Given the description of an element on the screen output the (x, y) to click on. 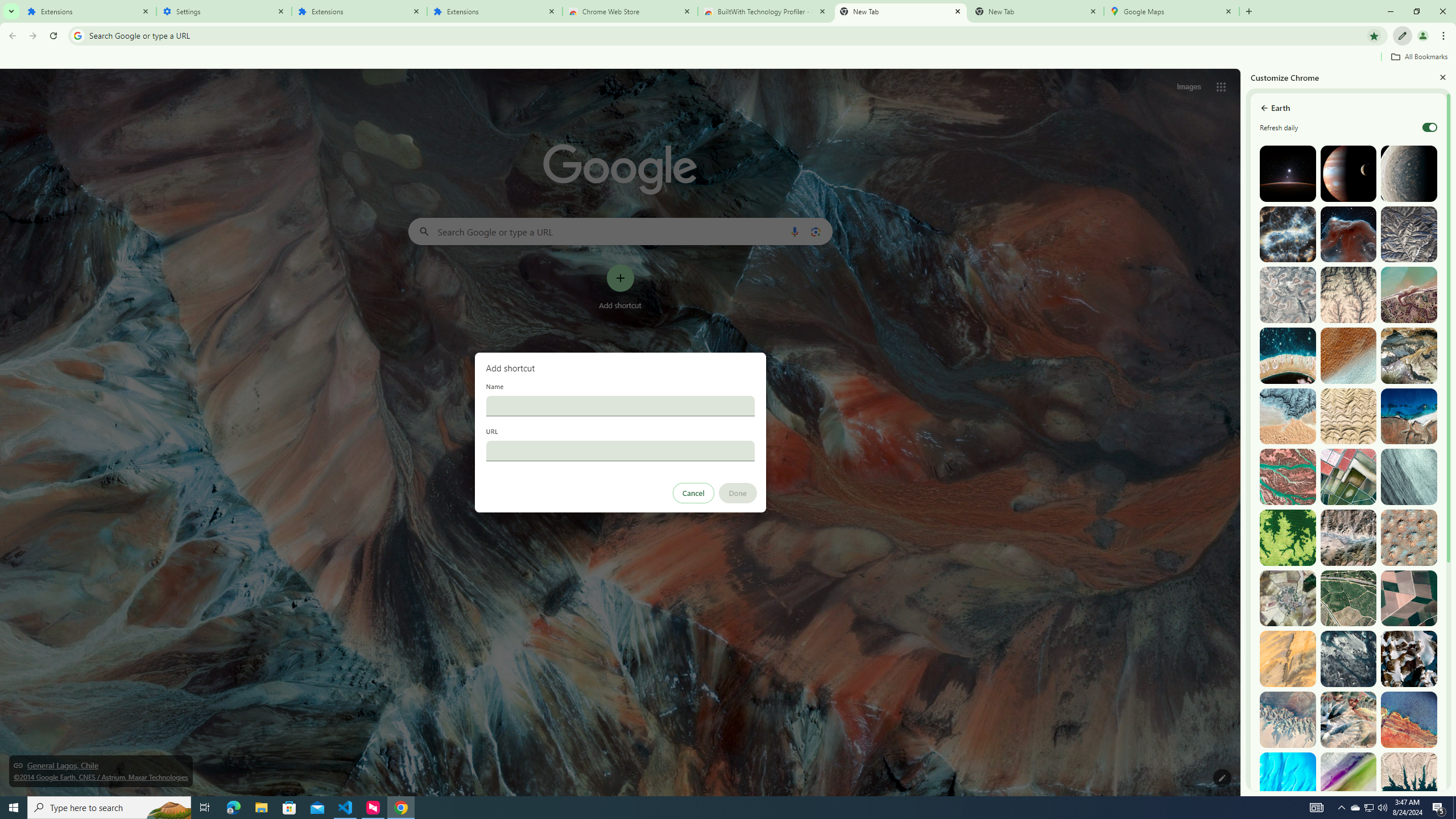
Search tabs (10, 11)
Settings (224, 11)
Ouargla, Algeria (1408, 537)
Trarza, Mauritania (1348, 355)
Zermatt, Wallis, Switzerland (1408, 355)
Dekese, DR Congo (1287, 537)
Isla Cristina, Spain (1348, 598)
Customize Chrome (1402, 35)
Kelan, Shanxi, China (1408, 233)
Close (1442, 77)
Cancel (693, 493)
Hainan, China (1408, 780)
Aigues-Mortes, France (1348, 476)
